Given the description of an element on the screen output the (x, y) to click on. 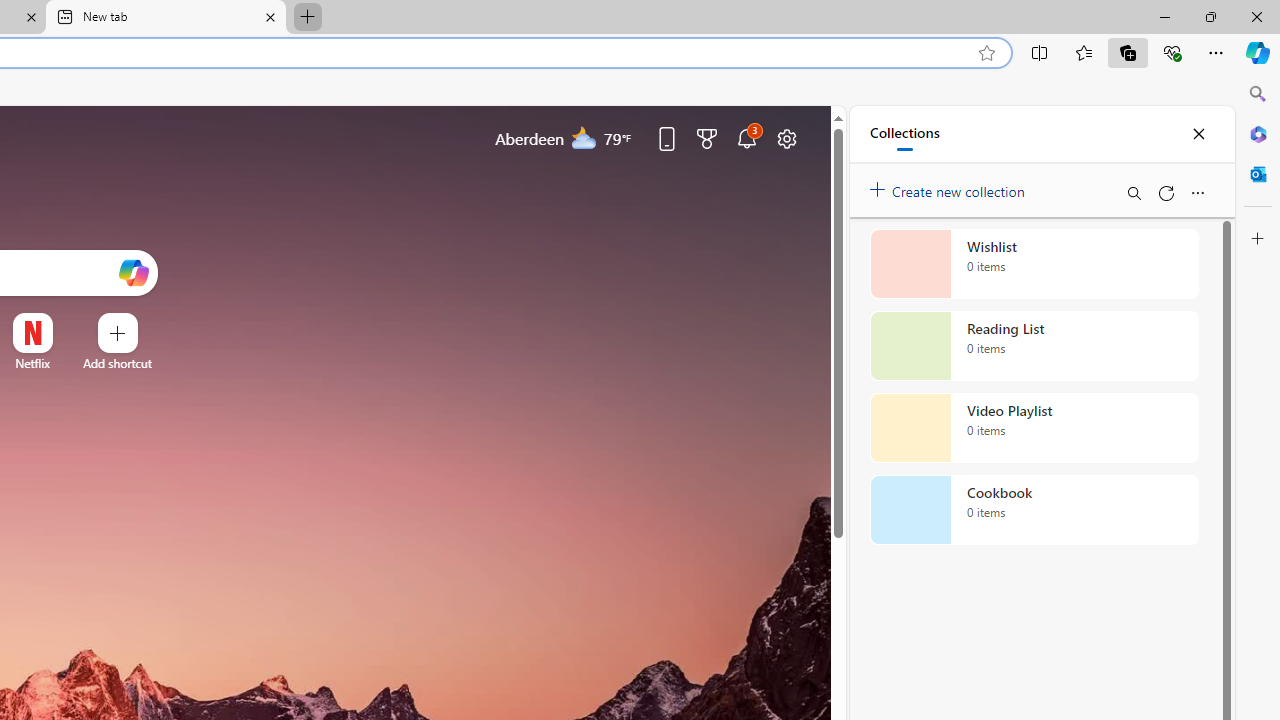
More options menu (1197, 192)
Create new collection (950, 188)
Cookbook collection, 0 items (1034, 510)
